Given the description of an element on the screen output the (x, y) to click on. 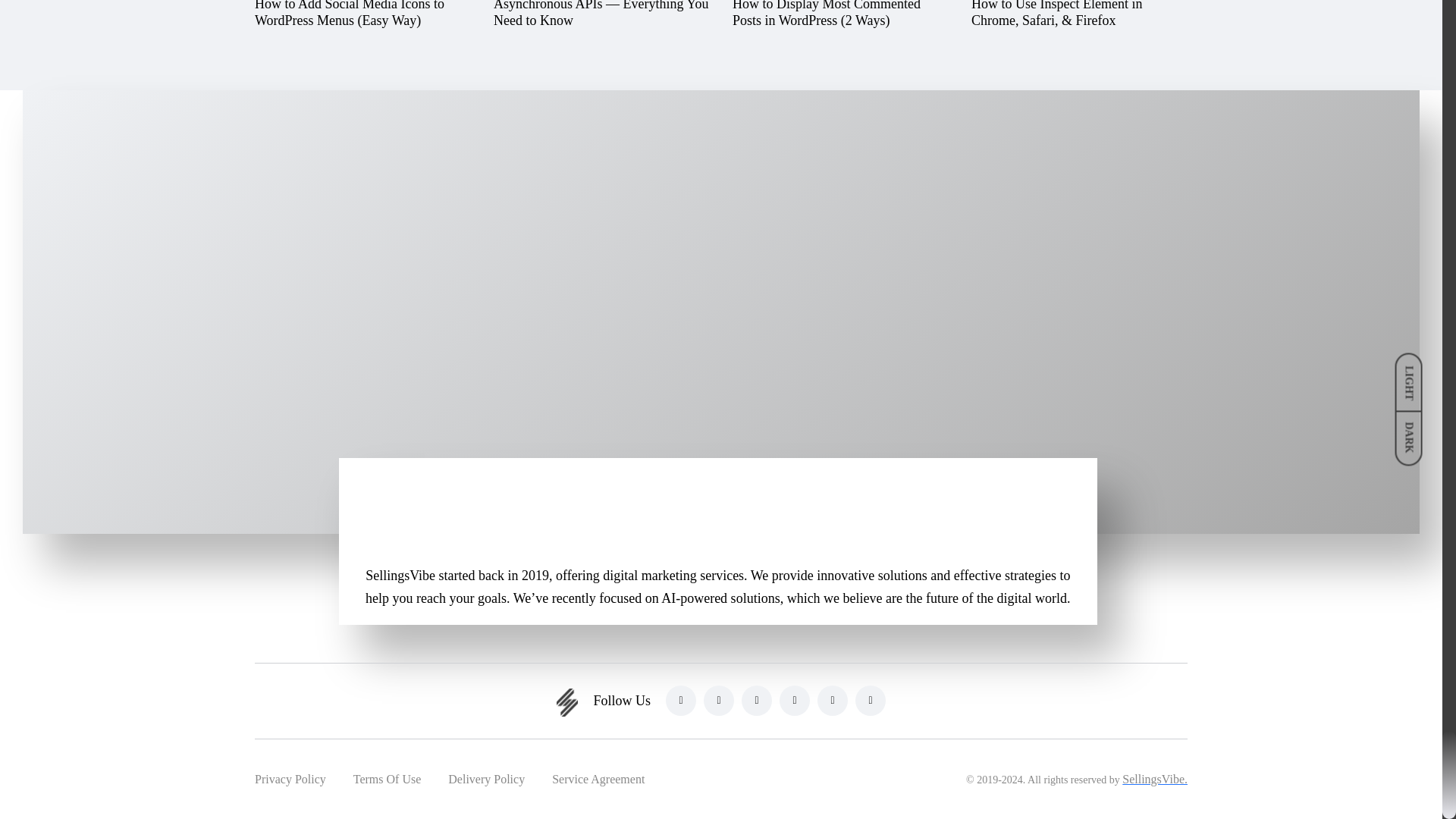
Medium (831, 700)
Quora (870, 700)
Instagram (756, 700)
Twitter (793, 700)
Facebook-f (718, 700)
Linkedin-in (680, 700)
